Given the description of an element on the screen output the (x, y) to click on. 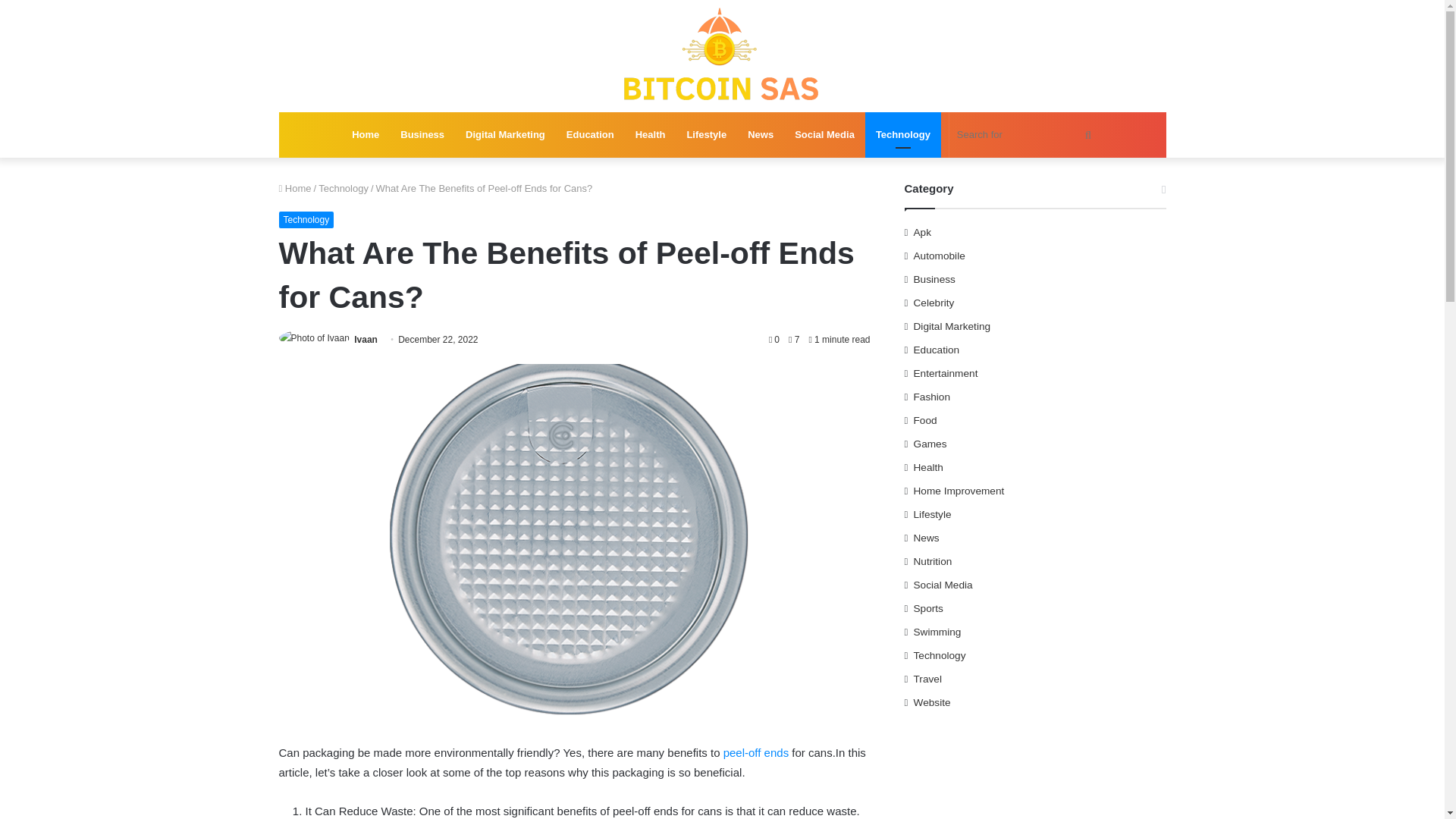
Ivaan (365, 339)
Business (422, 135)
Lifestyle (705, 135)
peel-off ends (756, 752)
Health (650, 135)
Social Media (824, 135)
Technology (902, 135)
Bitcoinsas.com (721, 56)
Digital Marketing (505, 135)
Home (295, 188)
Ivaan (365, 339)
Search for (1026, 135)
Home (365, 135)
Technology (343, 188)
Education (590, 135)
